Given the description of an element on the screen output the (x, y) to click on. 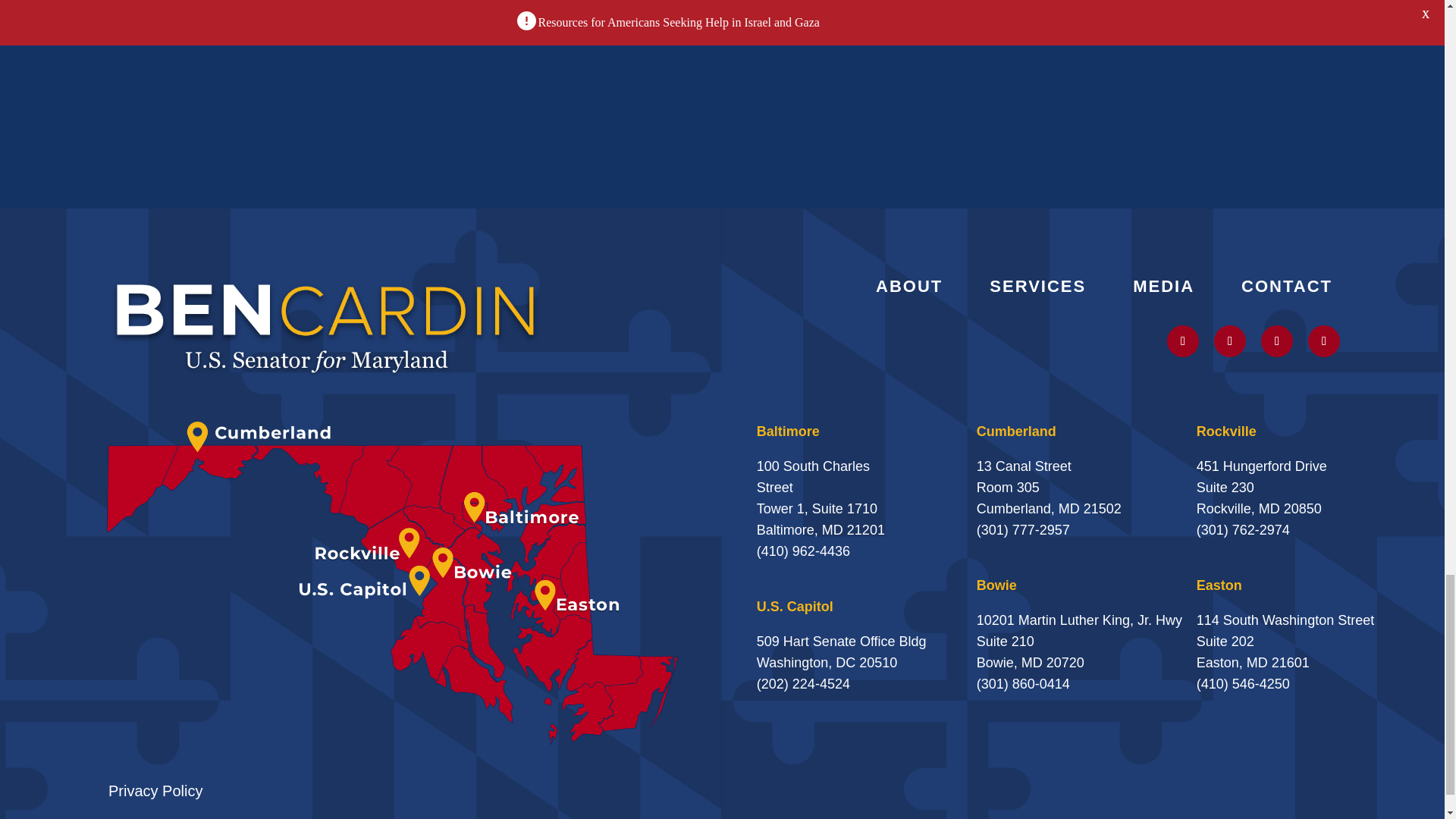
Follow on X (1182, 341)
Follow on Instagram (1230, 341)
Follow on Facebook (1323, 341)
Follow on Youtube (1276, 341)
Privacy Policy (154, 790)
Footer (326, 325)
